Given the description of an element on the screen output the (x, y) to click on. 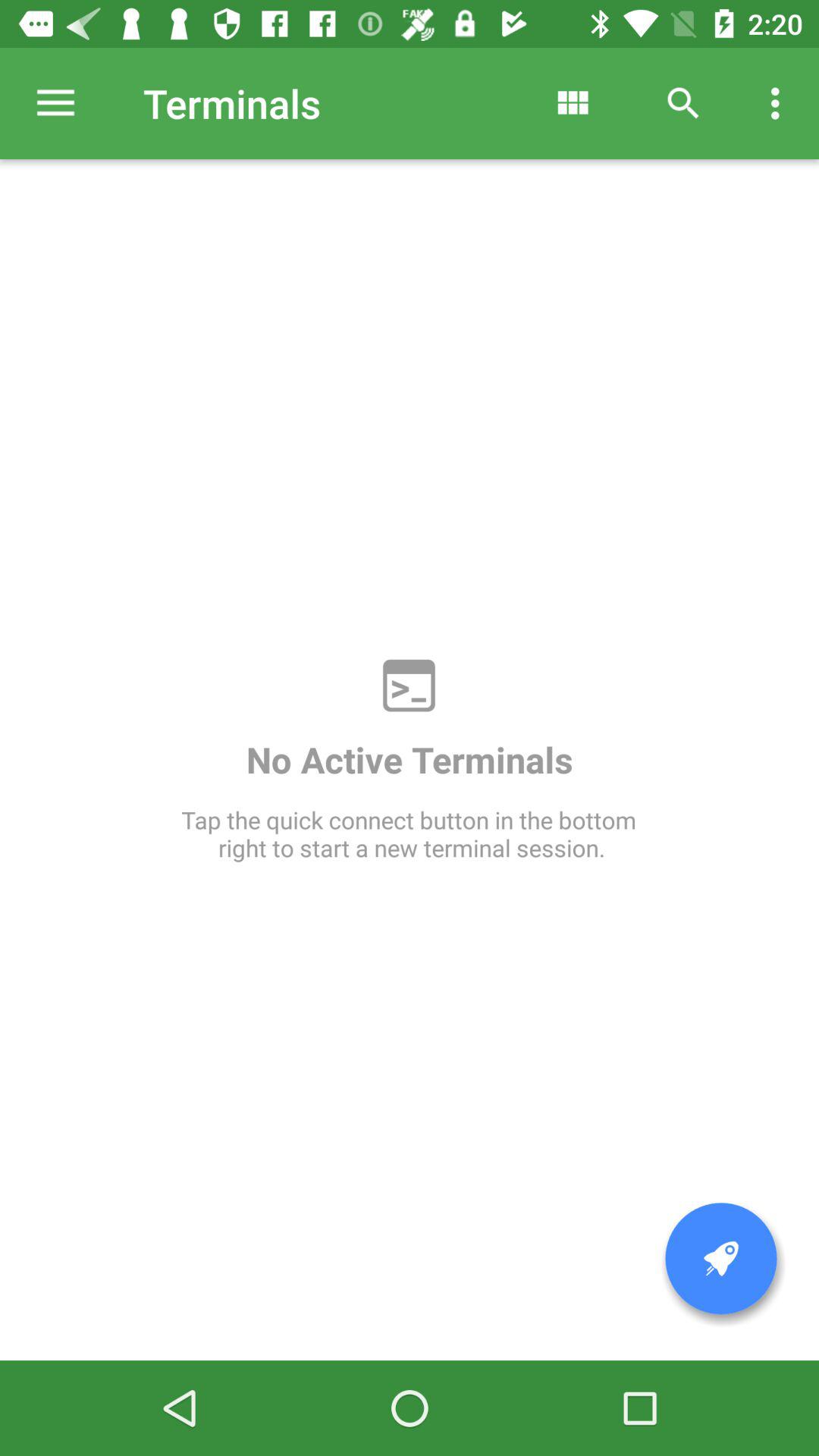
click icon to the right of terminals item (571, 103)
